Given the description of an element on the screen output the (x, y) to click on. 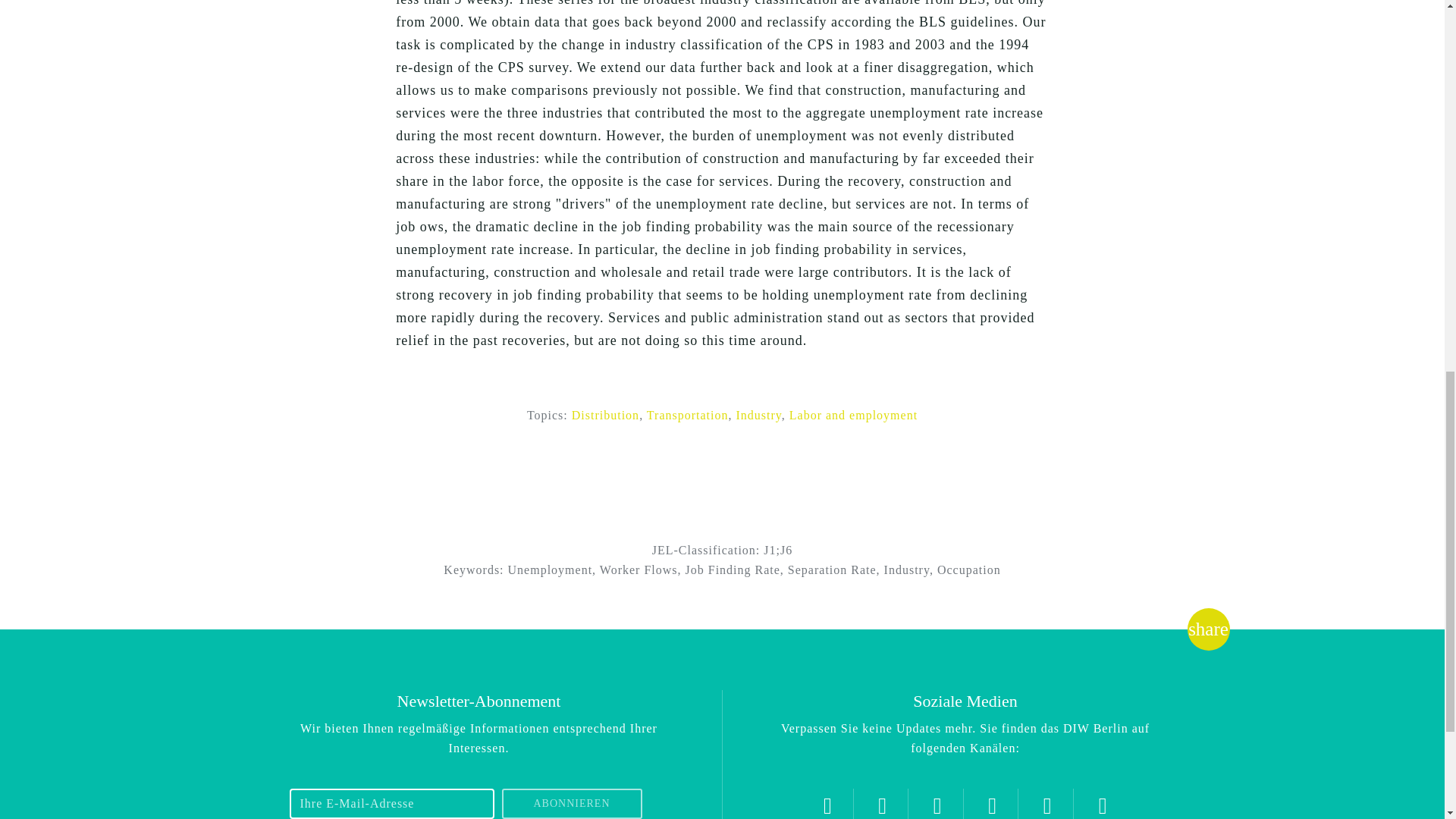
Youtube (991, 803)
Instagram (882, 803)
Twitter (827, 803)
LinkedIn (1047, 803)
Teilen (1208, 629)
RSS feeds (1102, 803)
Facebook (937, 803)
